Given the description of an element on the screen output the (x, y) to click on. 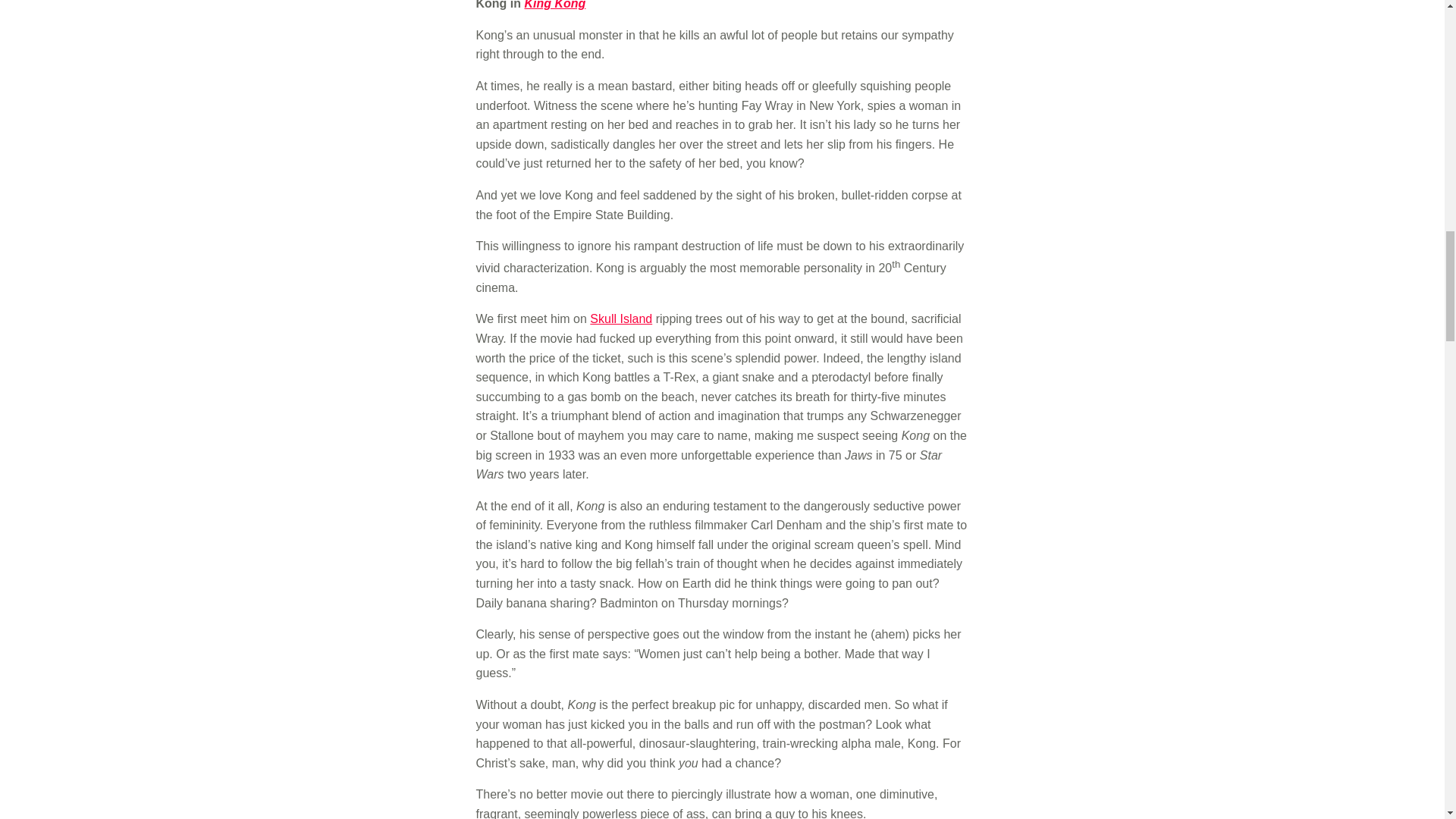
King Kong (554, 4)
Skull Island (620, 318)
